Given the description of an element on the screen output the (x, y) to click on. 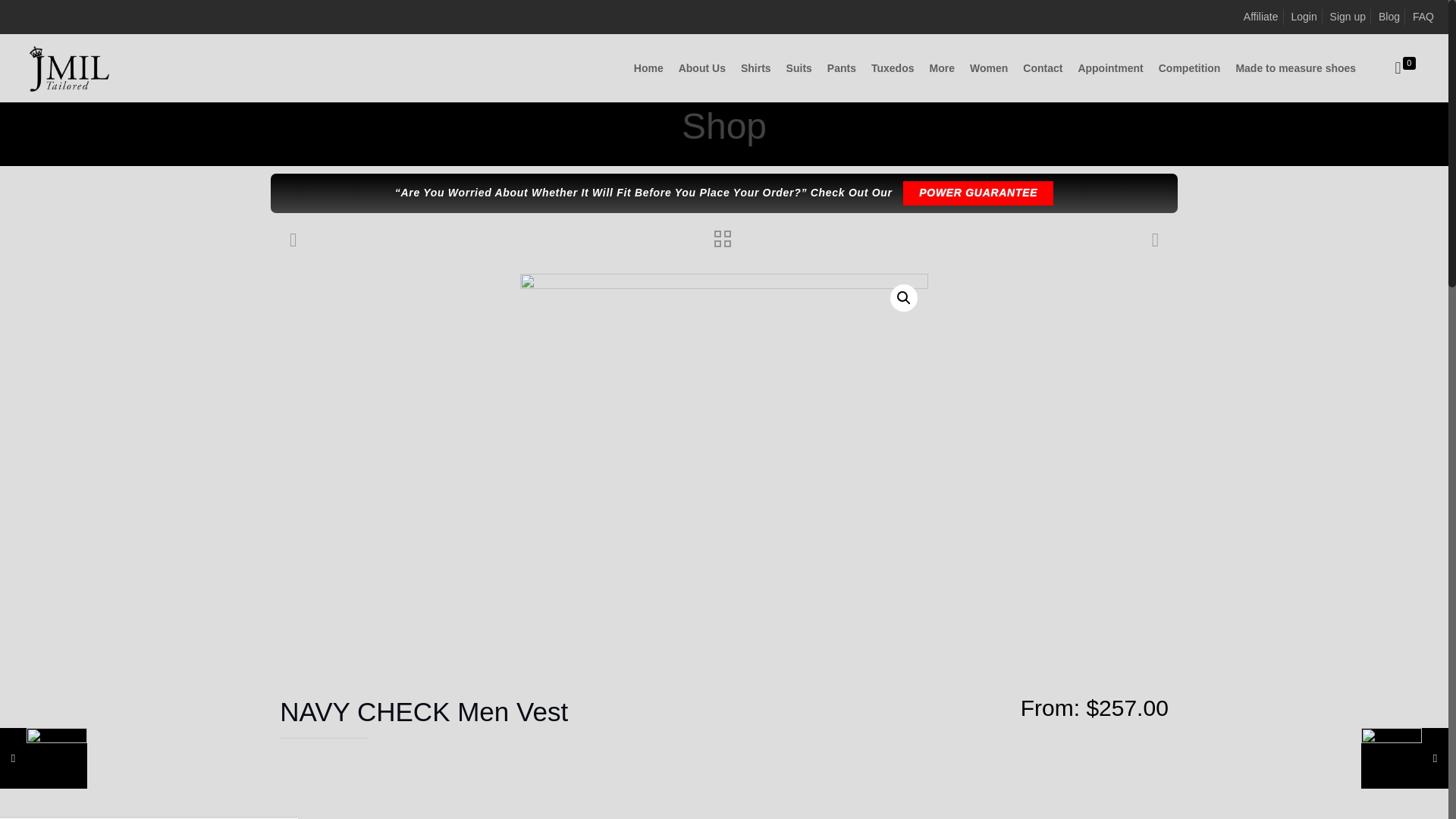
Home (584, 157)
Competition (1189, 68)
Shirts (755, 68)
Suits (798, 68)
Blog (1388, 16)
0 (1404, 67)
Tuxedos (892, 68)
About Us (702, 68)
Women (988, 68)
JMIL Tailored (69, 68)
More (941, 68)
Home (648, 68)
Affiliate (1260, 16)
Made to measure shoes (1294, 68)
Contact (1042, 68)
